Given the description of an element on the screen output the (x, y) to click on. 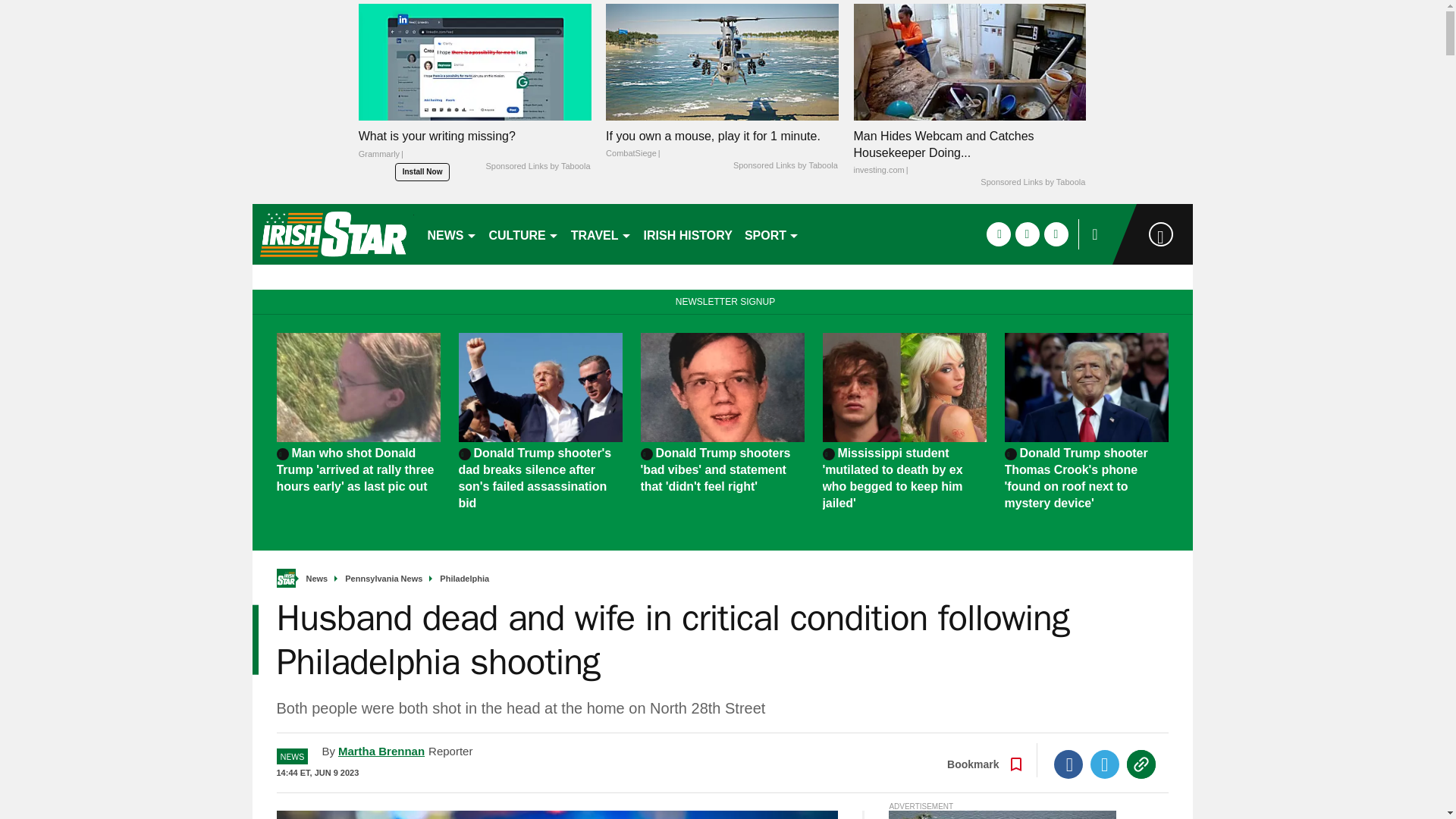
TRAVEL (600, 233)
Man Hides Webcam and Catches Housekeeper Doing... (969, 152)
Sponsored Links by Taboola (1031, 182)
IRISH HISTORY (687, 233)
Twitter (1104, 764)
twitter (1026, 233)
instagram (1055, 233)
CULTURE (522, 233)
Sponsored Links by Taboola (536, 166)
Install Now (421, 171)
SPORT (771, 233)
NEWS (452, 233)
Sponsored Links by Taboola (785, 165)
irishstar (332, 233)
What is your writing missing? (474, 148)
